Given the description of an element on the screen output the (x, y) to click on. 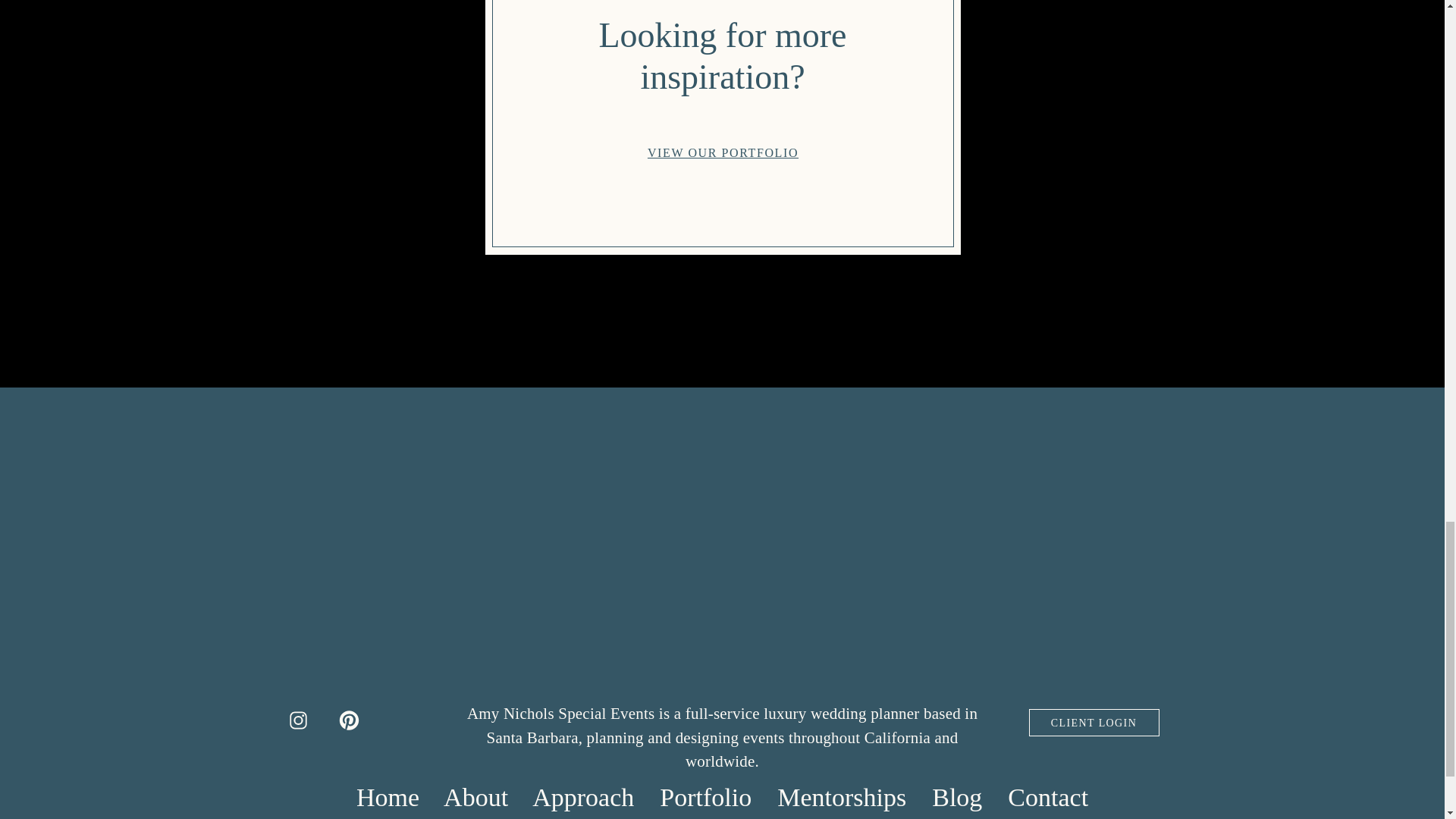
Tweet (458, 93)
Tweet (458, 93)
Share (389, 93)
Pin (521, 93)
Pin (521, 93)
Share on Facebook (389, 93)
VIEW OUR PORTFOLIO (722, 152)
